Given the description of an element on the screen output the (x, y) to click on. 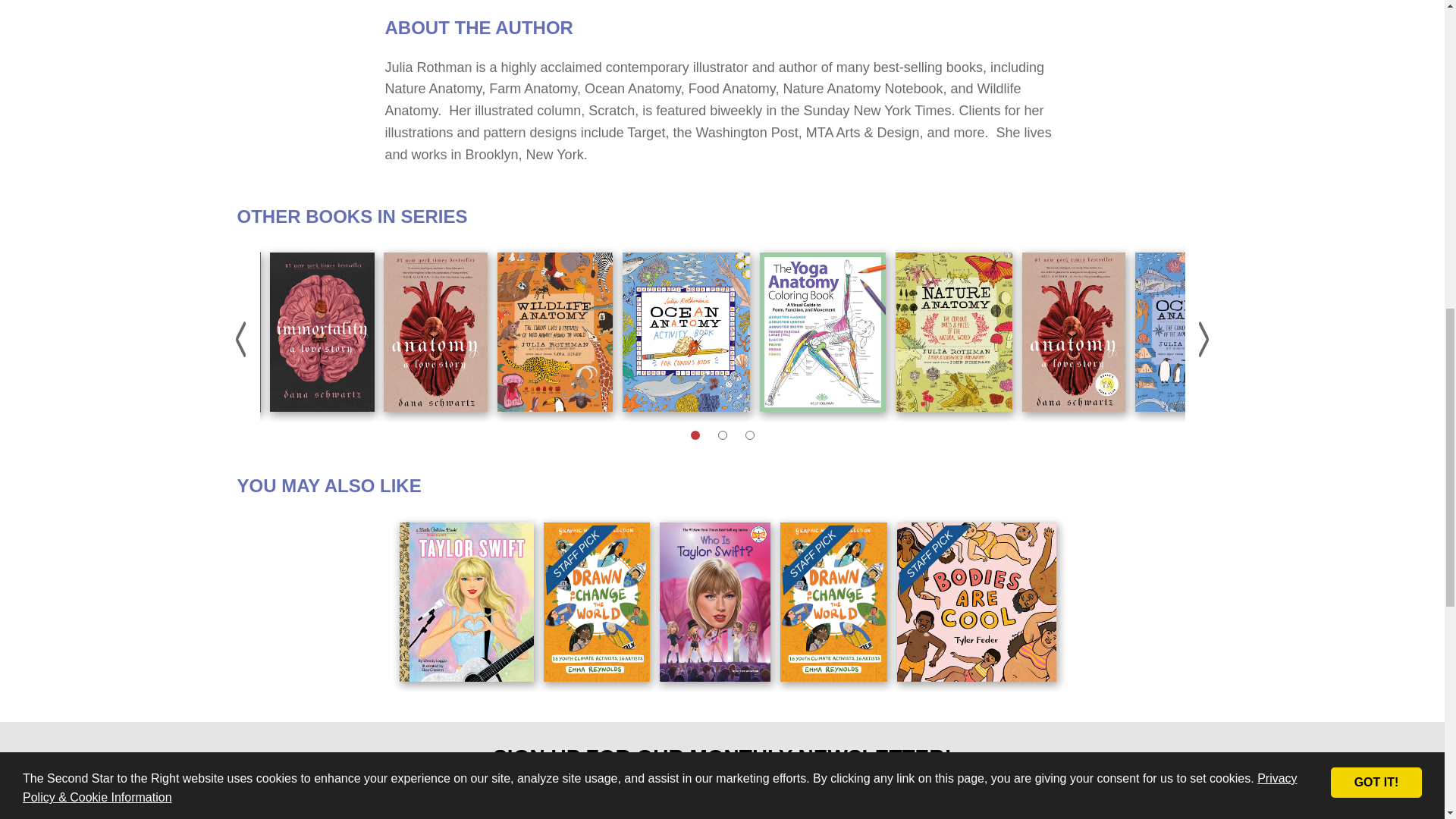
GOT IT! (1376, 50)
